Given the description of an element on the screen output the (x, y) to click on. 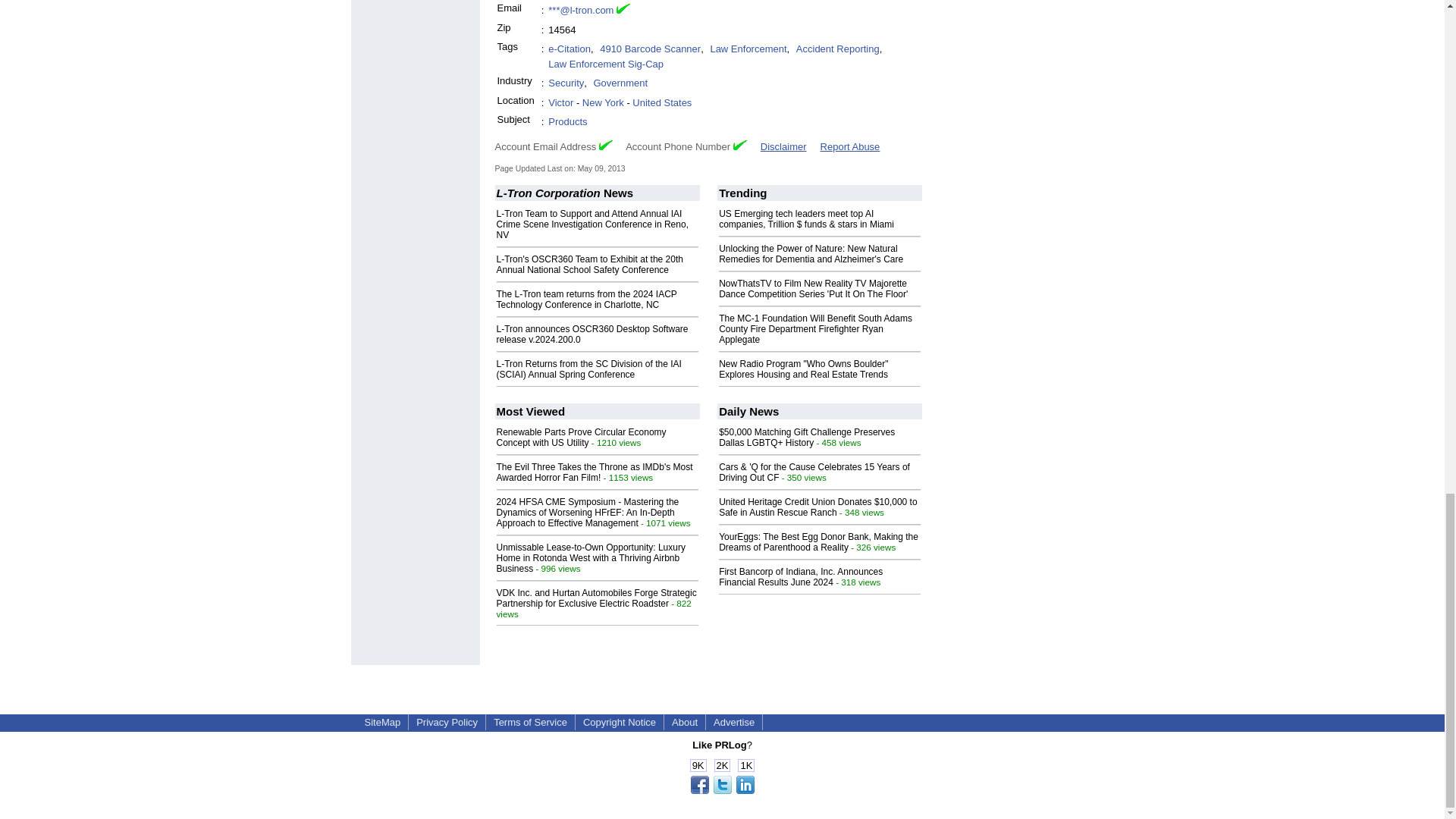
Email Verified (622, 10)
Verified (605, 144)
Share this page! (722, 790)
Verified (739, 144)
